Given the description of an element on the screen output the (x, y) to click on. 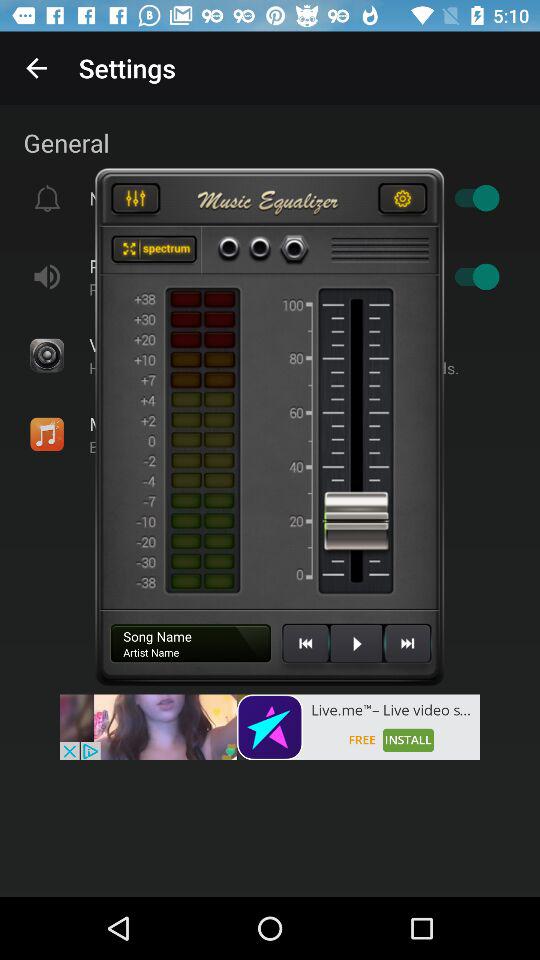
back face (407, 651)
